Given the description of an element on the screen output the (x, y) to click on. 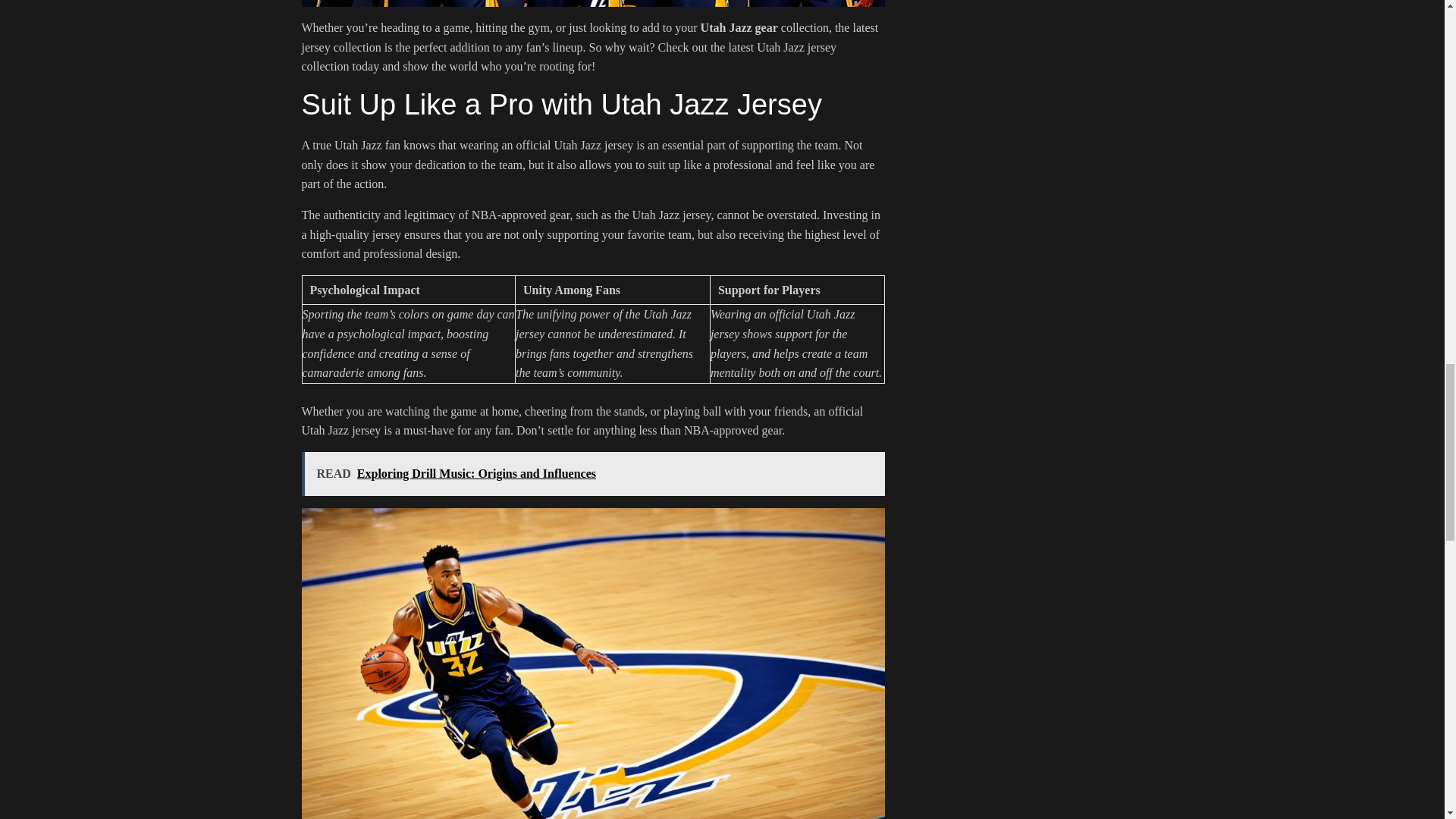
READ  Exploring Drill Music: Origins and Influences (593, 474)
